Given the description of an element on the screen output the (x, y) to click on. 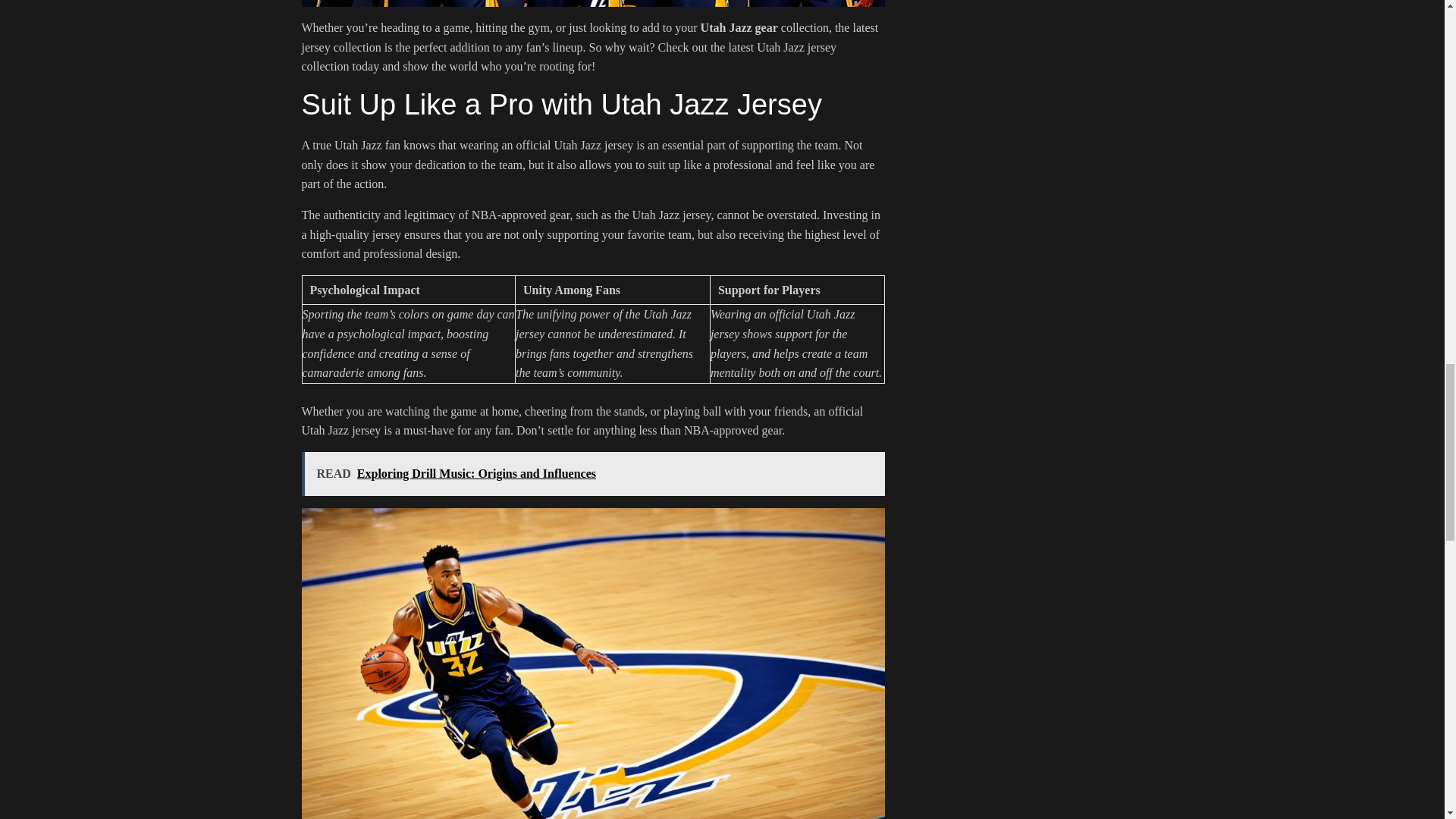
READ  Exploring Drill Music: Origins and Influences (593, 474)
